Given the description of an element on the screen output the (x, y) to click on. 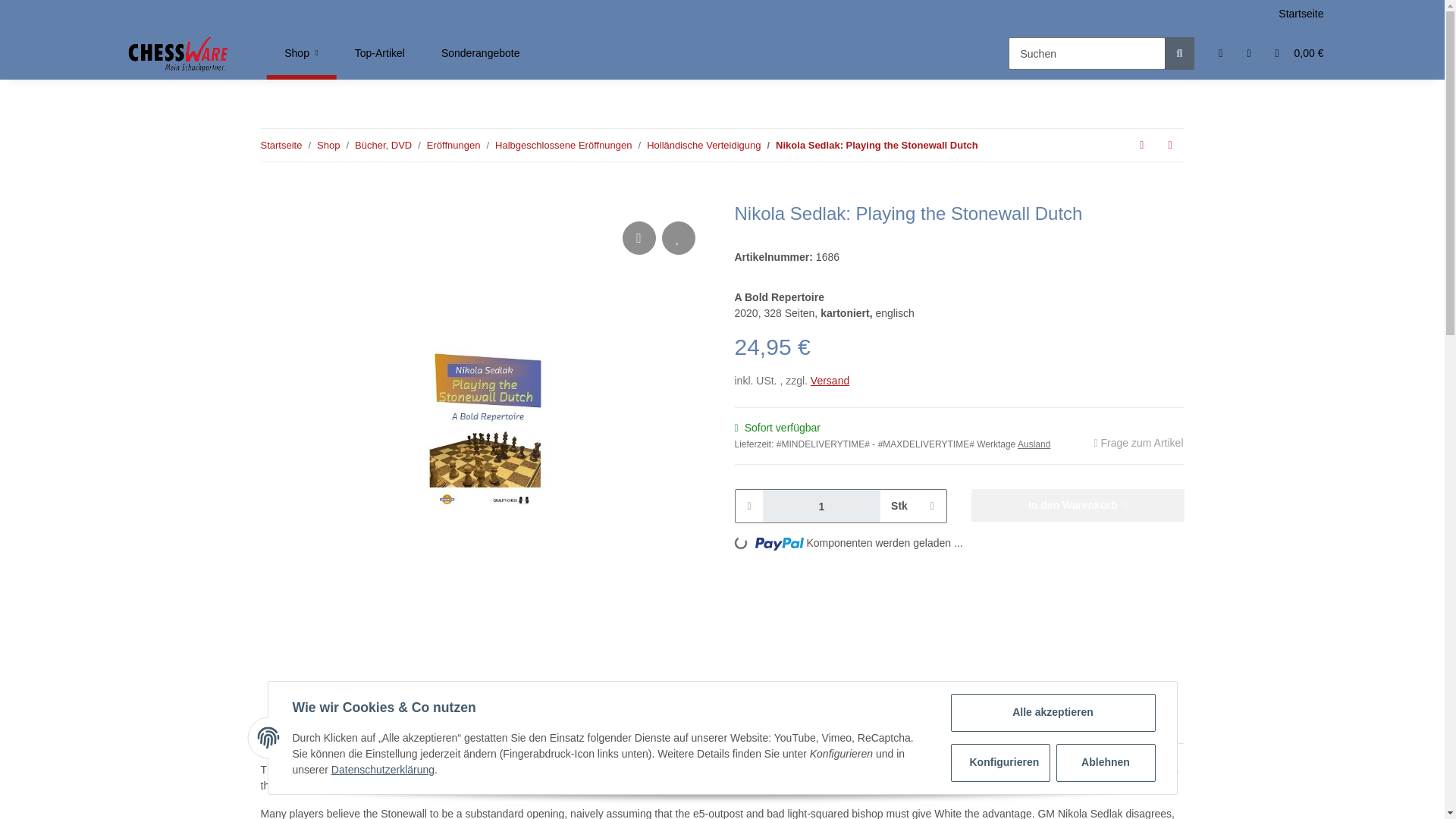
Shop (301, 53)
1 (821, 505)
Startseite (1300, 13)
Sonderangebote (480, 53)
Shop (328, 145)
Top-Artikel (379, 53)
Shop (301, 53)
Nikola Sedlak: Playing the Stonewall Dutch (877, 145)
ChessWare (179, 53)
Shop (301, 53)
Startseite (281, 145)
